Given the description of an element on the screen output the (x, y) to click on. 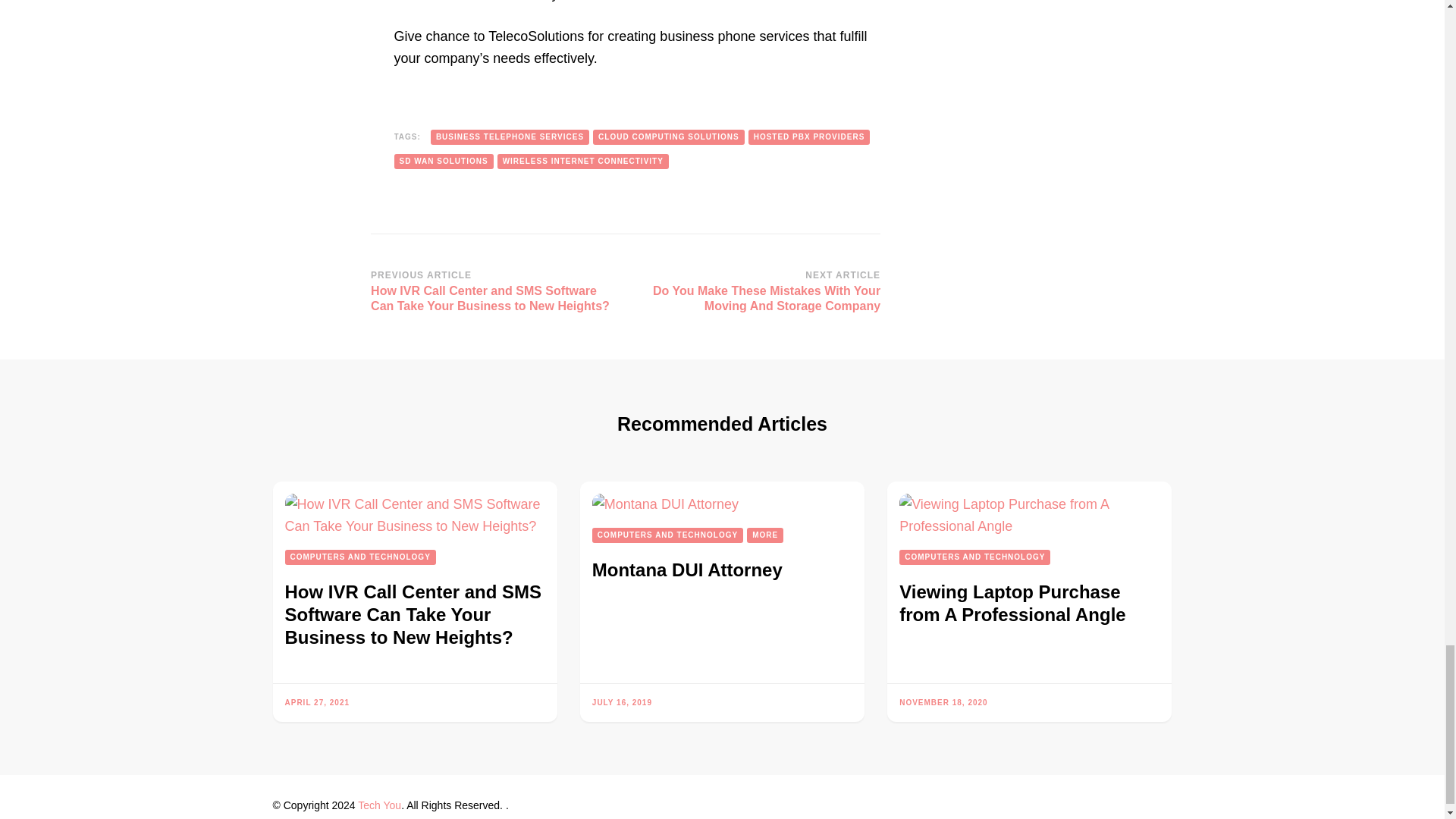
Viewing Laptop Purchase from A Professional Angle (1028, 515)
Montana DUI Attorney (665, 504)
